Given the description of an element on the screen output the (x, y) to click on. 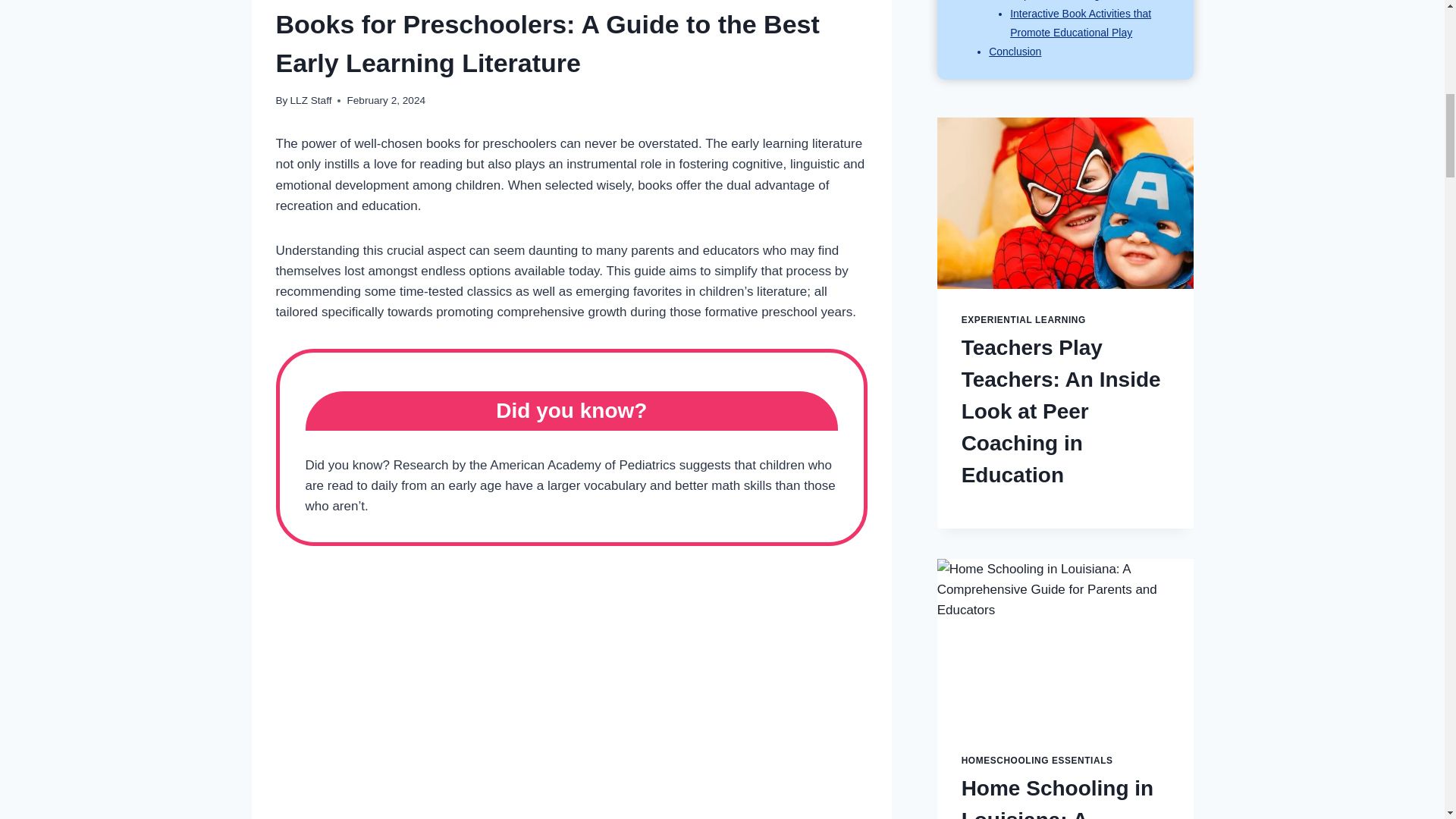
LLZ Staff (310, 100)
YouTube video player (571, 690)
